Given the description of an element on the screen output the (x, y) to click on. 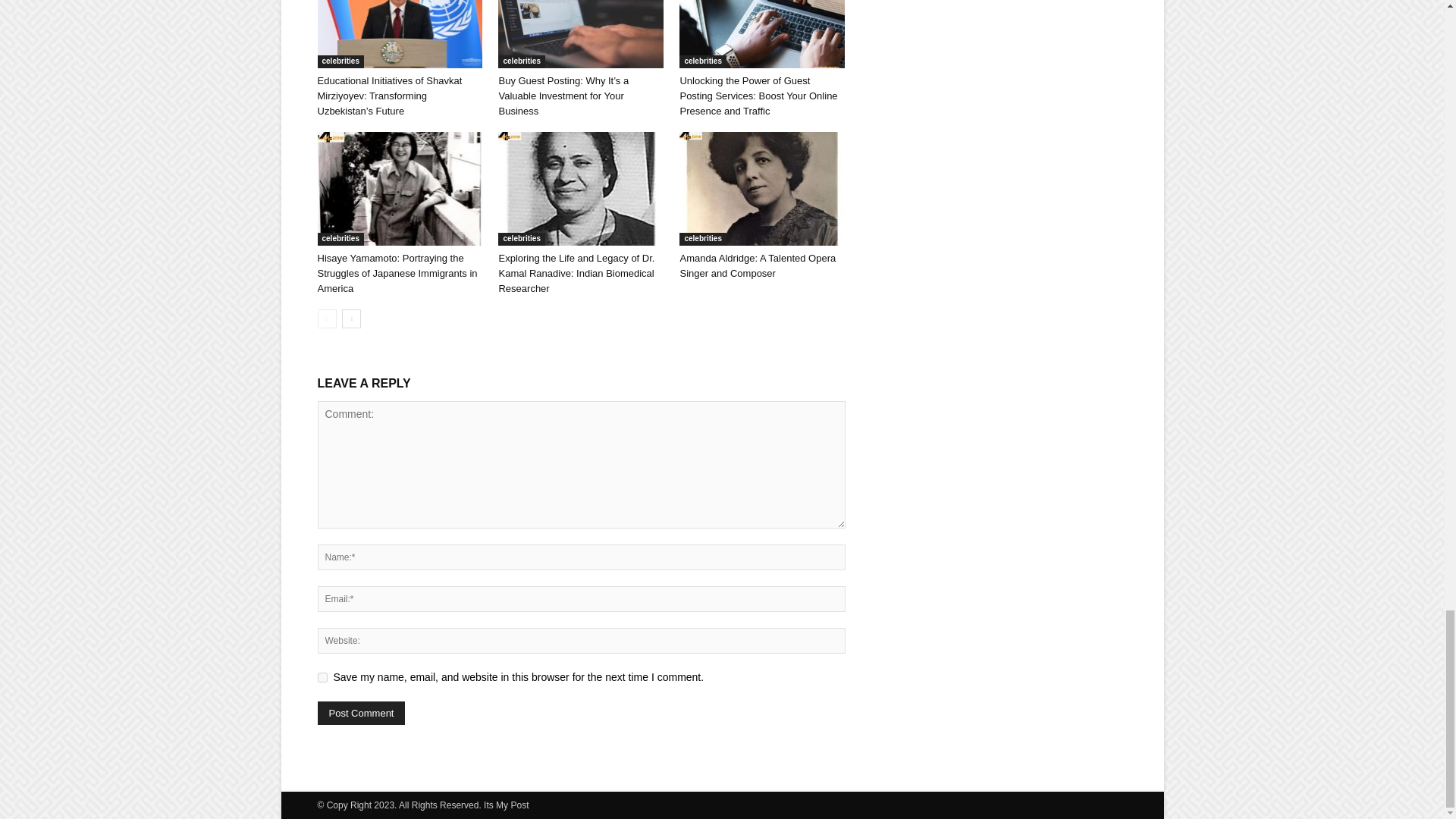
Post Comment (360, 712)
yes (321, 677)
